Given the description of an element on the screen output the (x, y) to click on. 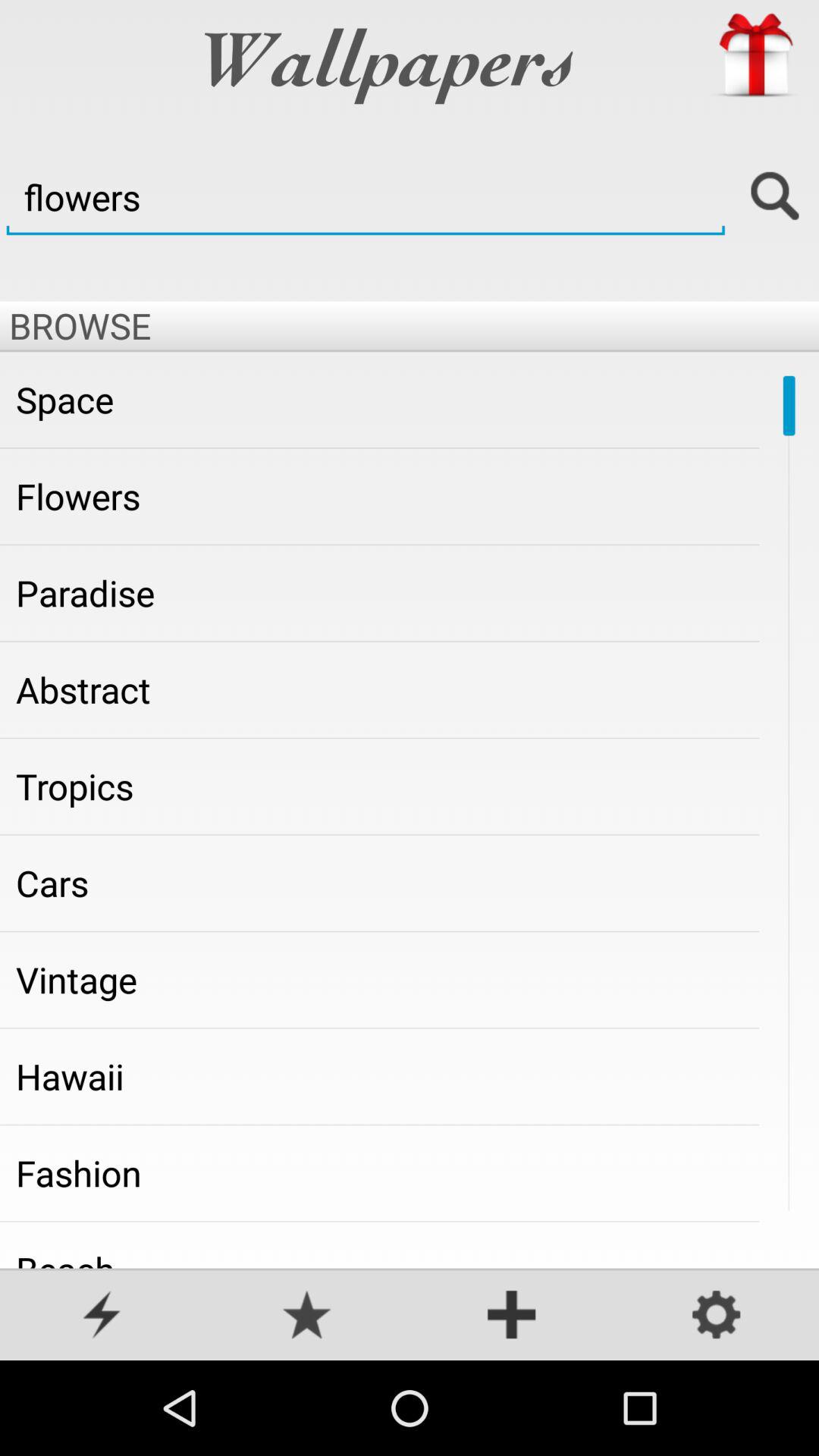
setting the option (716, 1316)
